Given the description of an element on the screen output the (x, y) to click on. 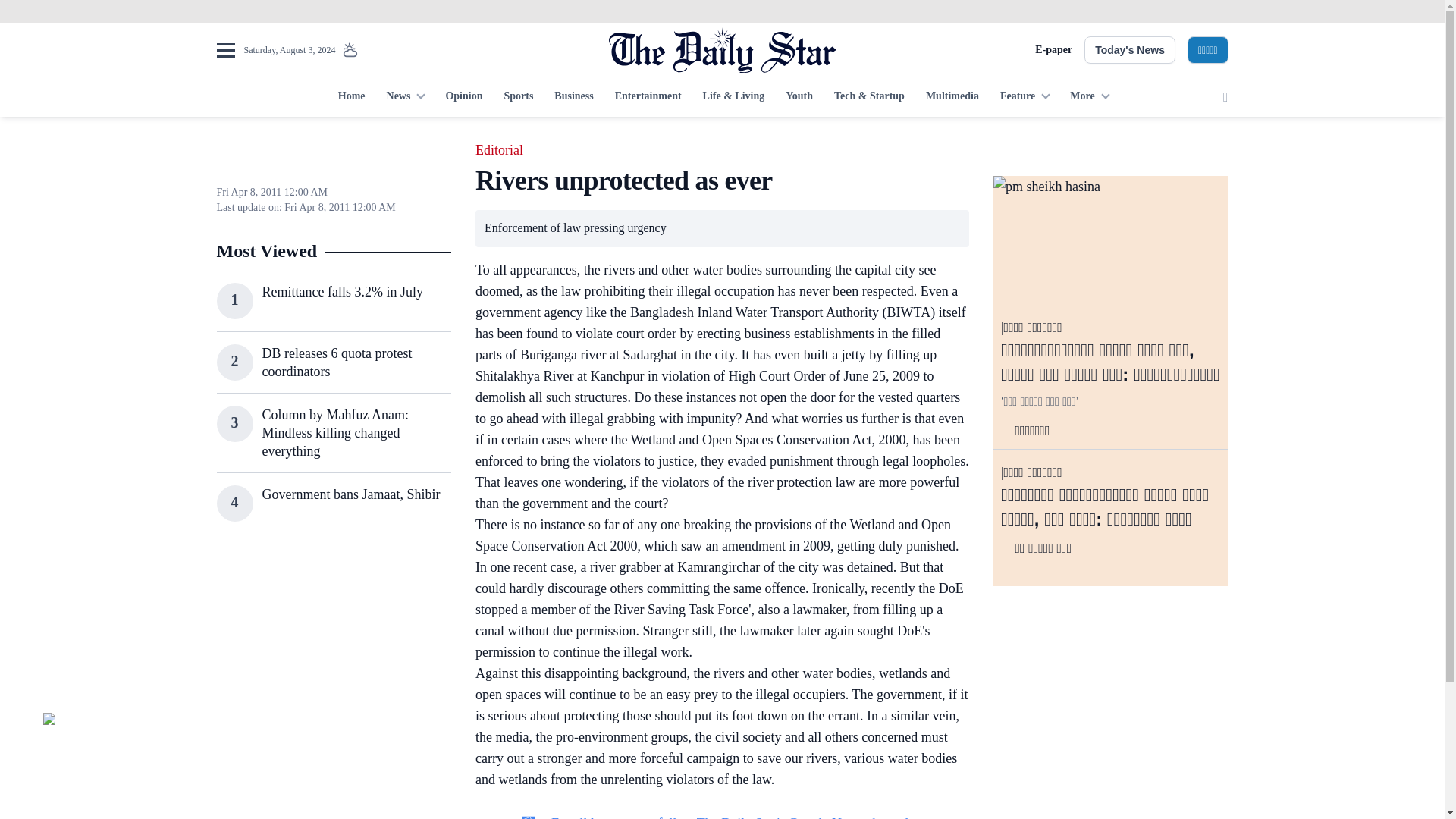
Entertainment (647, 96)
Youth (799, 96)
E-paper (1053, 49)
Opinion (463, 96)
Today's News (1129, 49)
Sports (518, 96)
pm sheikh hasina (1110, 241)
Business (573, 96)
Multimedia (952, 96)
Home (351, 96)
News (405, 96)
Feature (1024, 96)
